Given the description of an element on the screen output the (x, y) to click on. 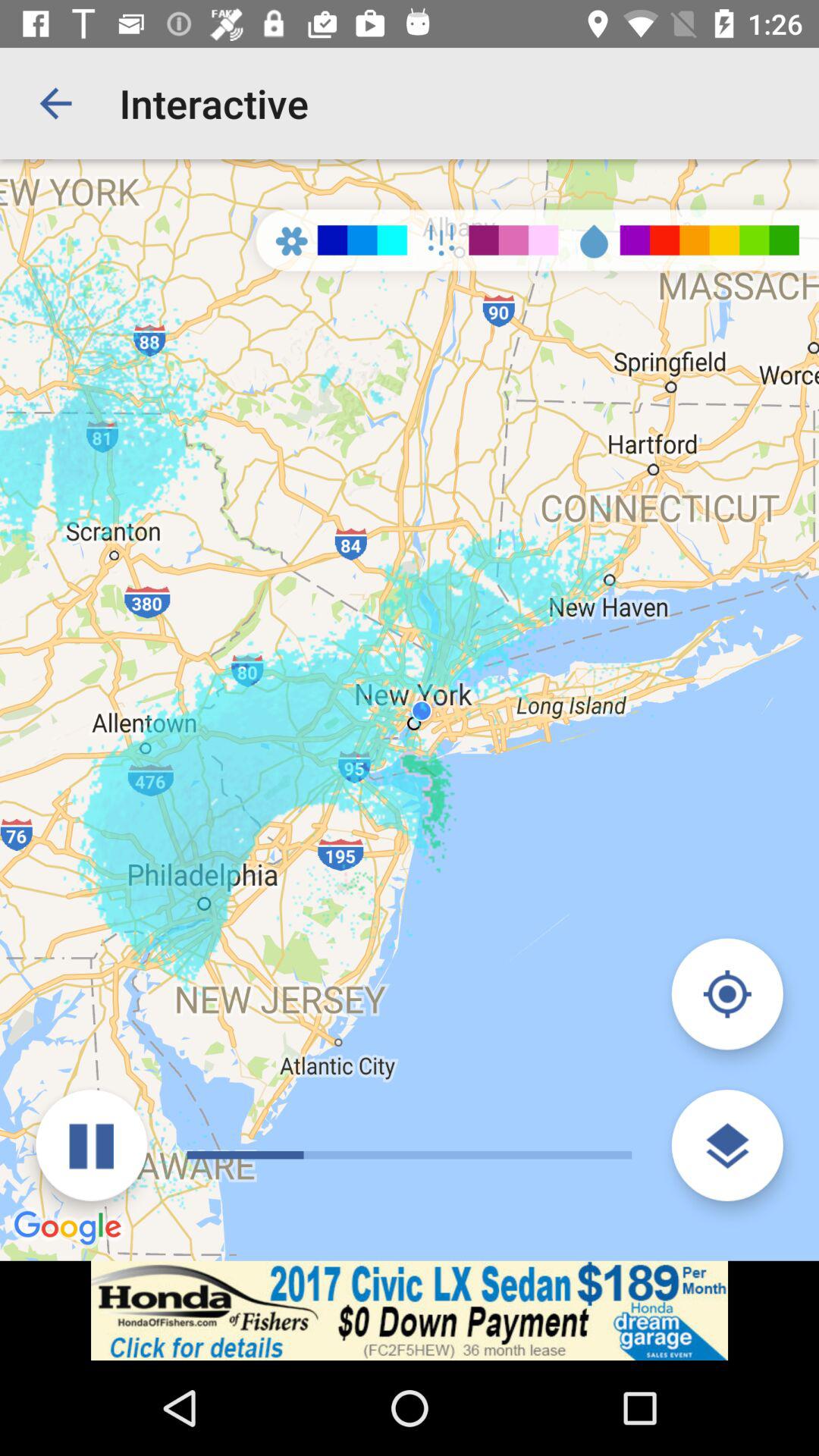
pause the video (91, 1145)
